Given the description of an element on the screen output the (x, y) to click on. 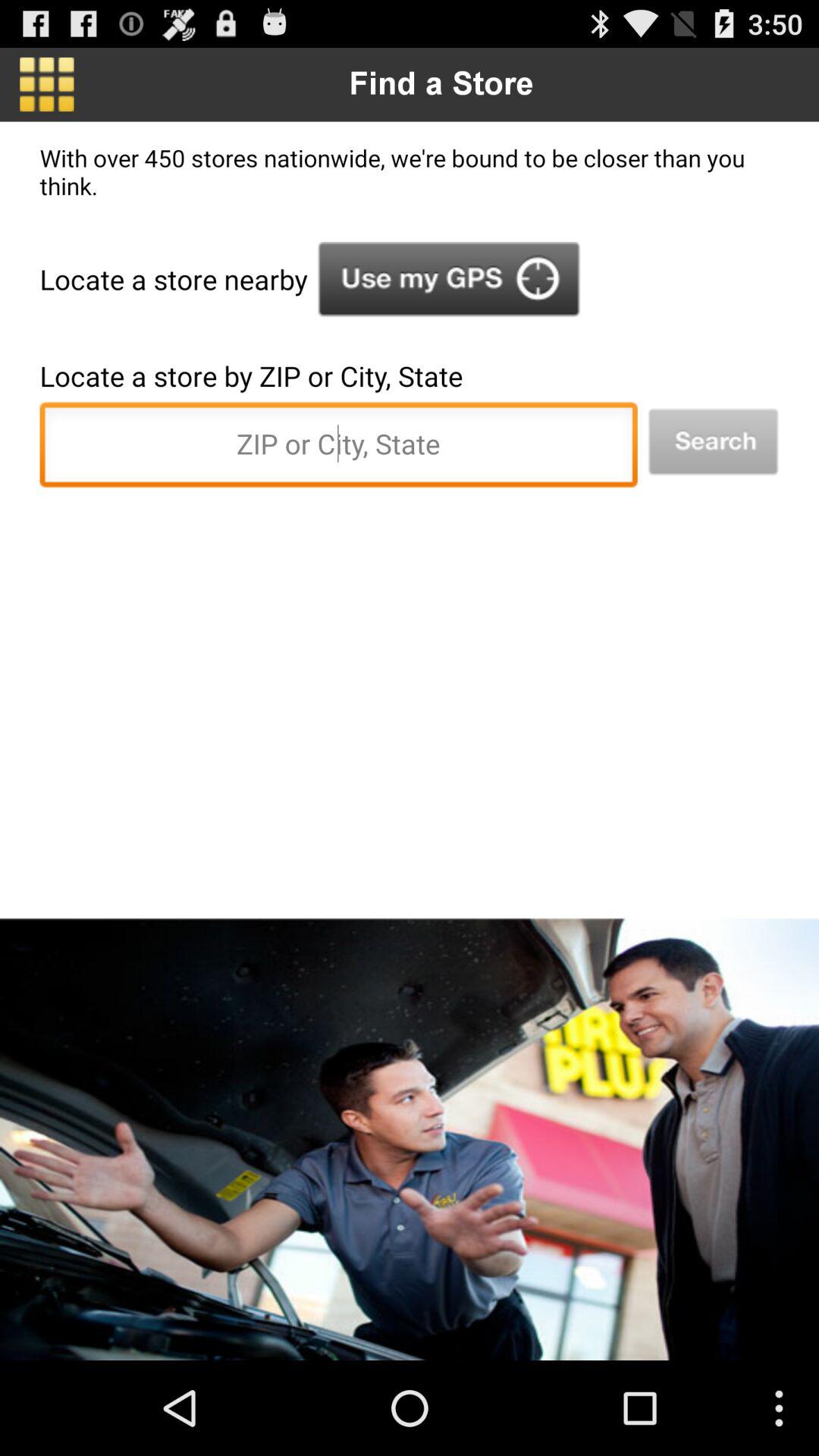
launch app below with over 450 (713, 442)
